Given the description of an element on the screen output the (x, y) to click on. 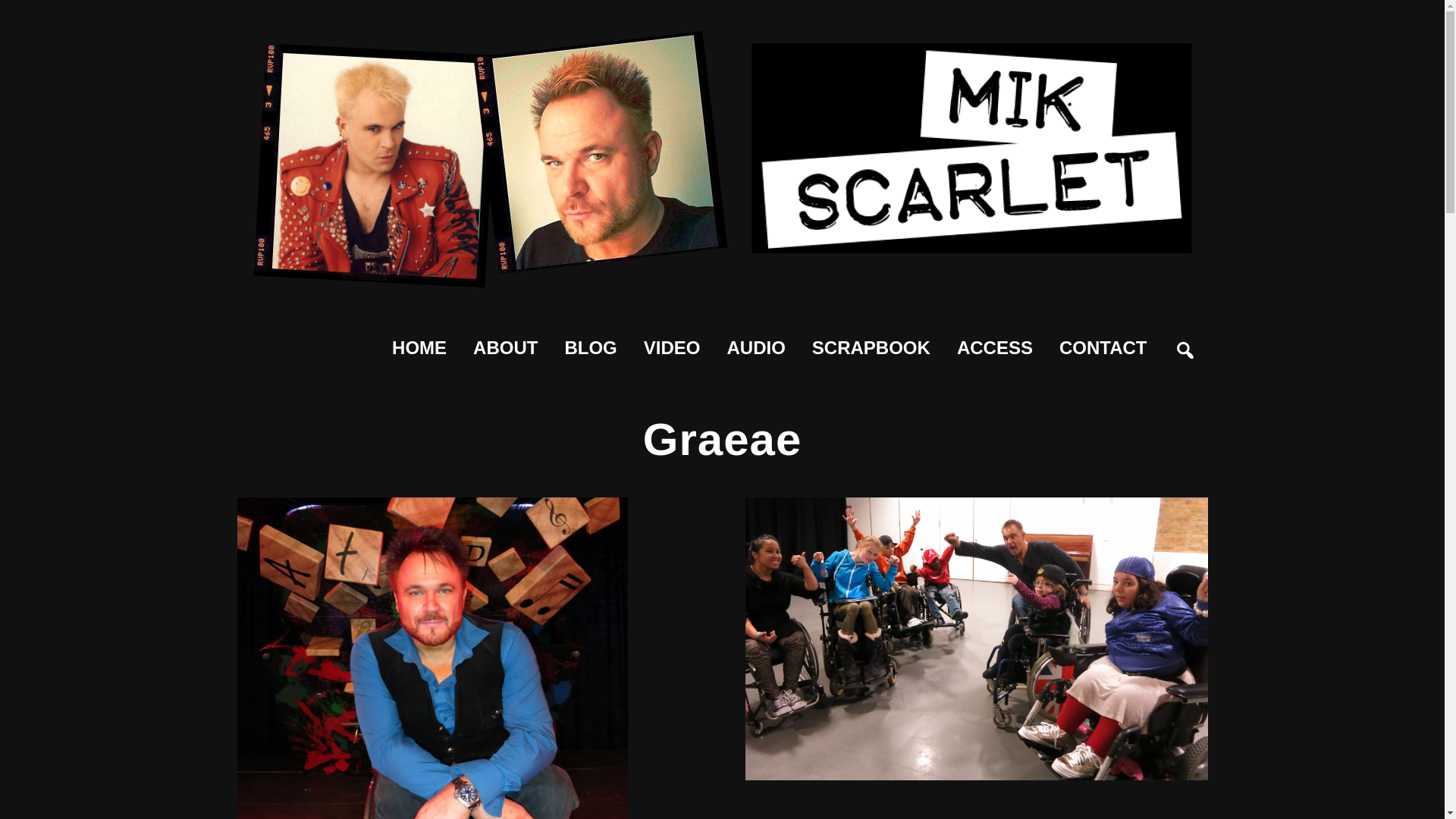
AUDIO (756, 348)
SEARCH (1197, 338)
HOME (419, 348)
ACCESS (993, 348)
BLOG (590, 348)
VIDEO (671, 348)
ABOUT (504, 348)
CONTACT (1103, 348)
SCRAPBOOK (871, 348)
